Given the description of an element on the screen output the (x, y) to click on. 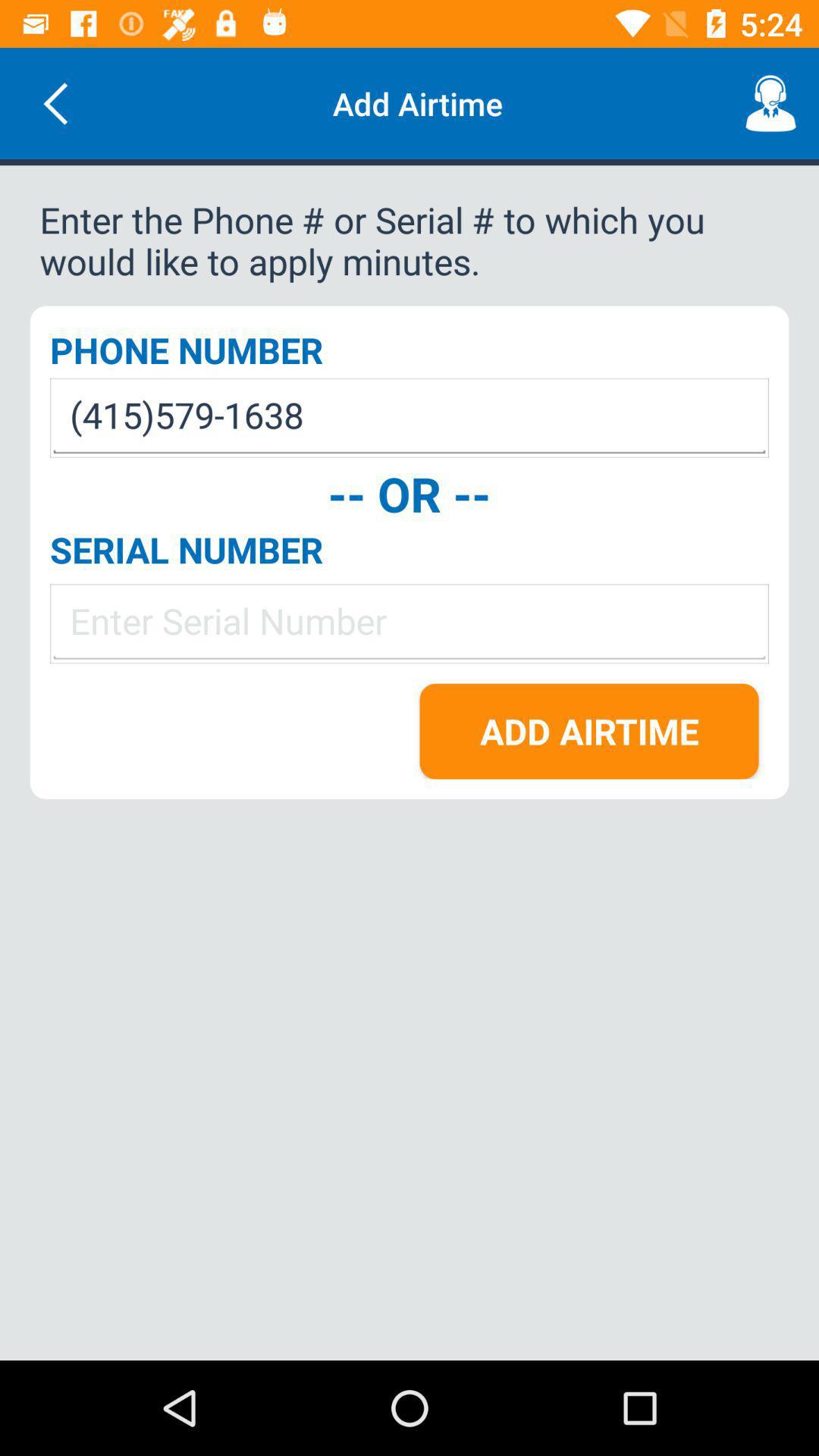
launch the icon to the right of add airtime (771, 103)
